Given the description of an element on the screen output the (x, y) to click on. 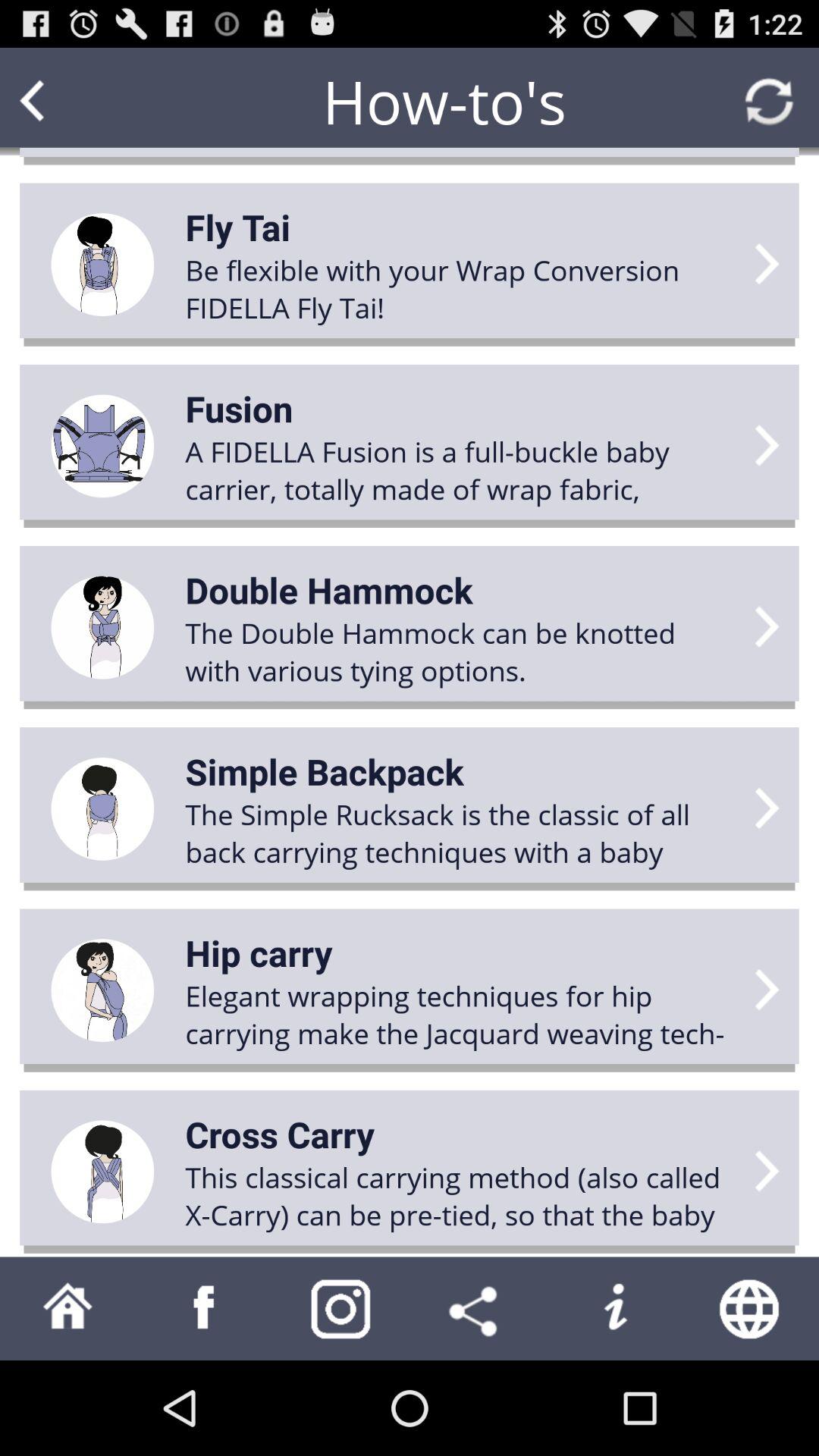
launch the a fidella fusion (460, 469)
